Given the description of an element on the screen output the (x, y) to click on. 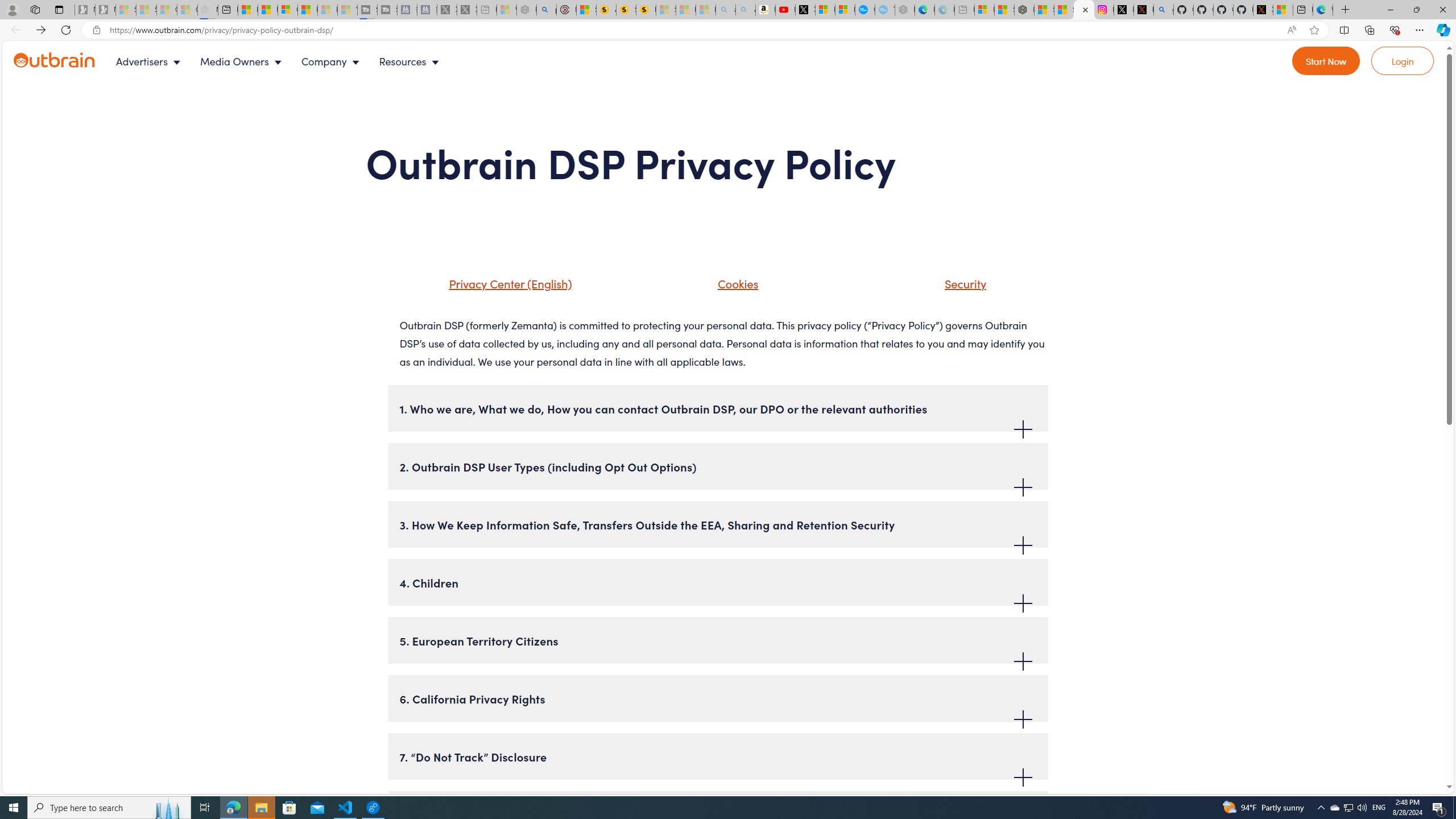
Michelle Starr, Senior Journalist at ScienceAlert (646, 9)
Security (951, 287)
Cookies (723, 287)
5. European Territory Citizens (717, 639)
Nordace - Duffels (1024, 9)
Log in to X / X (1123, 9)
Go to login (1402, 60)
Skip navigation to go to main content (34, 46)
